Given the description of an element on the screen output the (x, y) to click on. 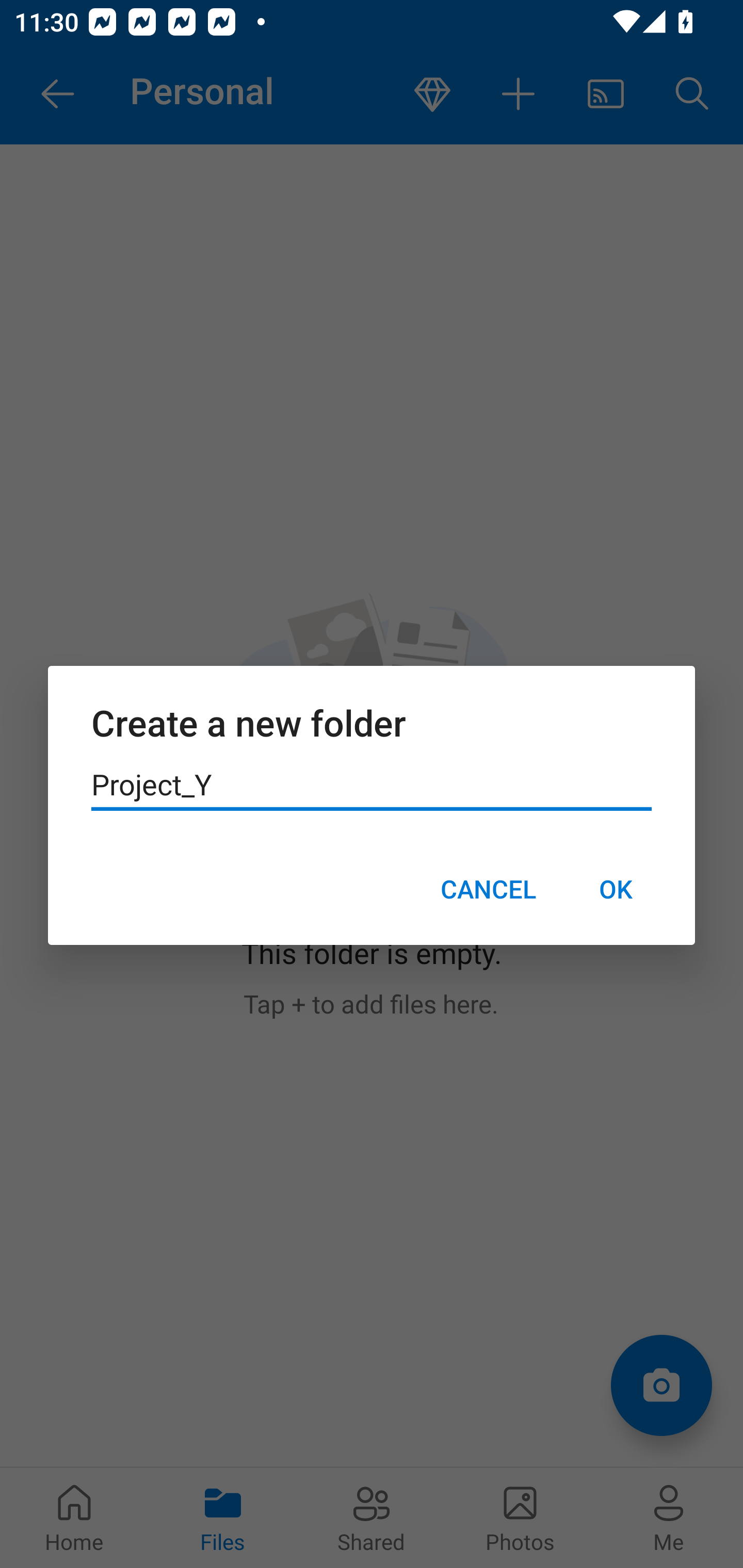
Project_Y (371, 784)
CANCEL (488, 888)
OK (615, 888)
